Given the description of an element on the screen output the (x, y) to click on. 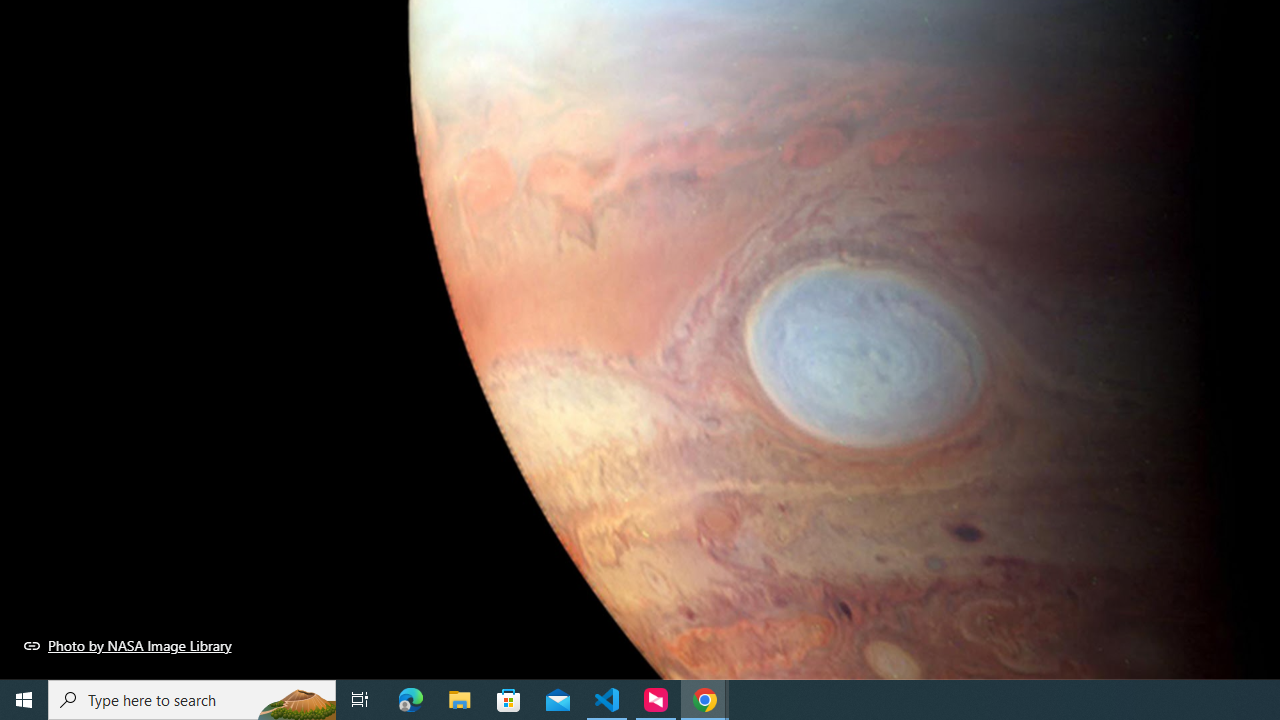
Photo by NASA Image Library (127, 645)
